Given the description of an element on the screen output the (x, y) to click on. 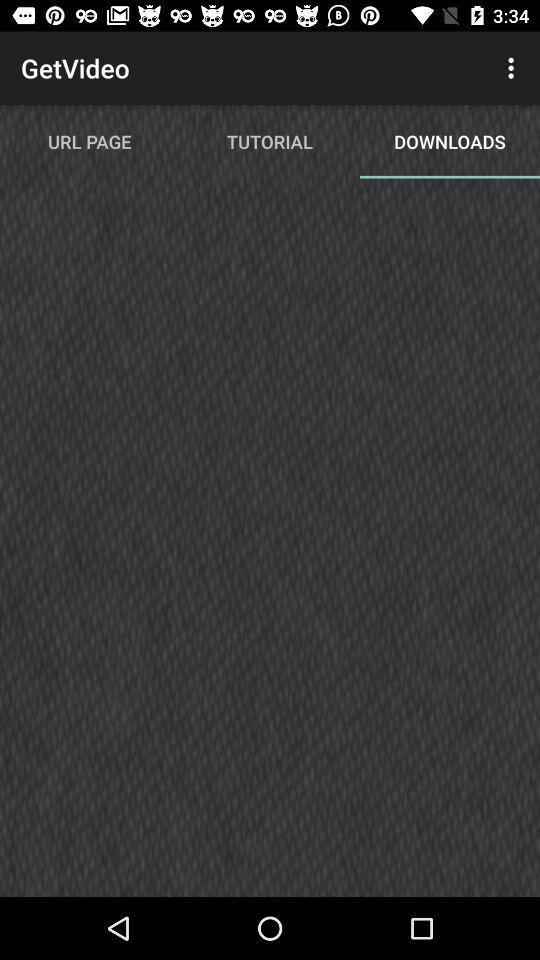
open icon at the center (270, 546)
